Given the description of an element on the screen output the (x, y) to click on. 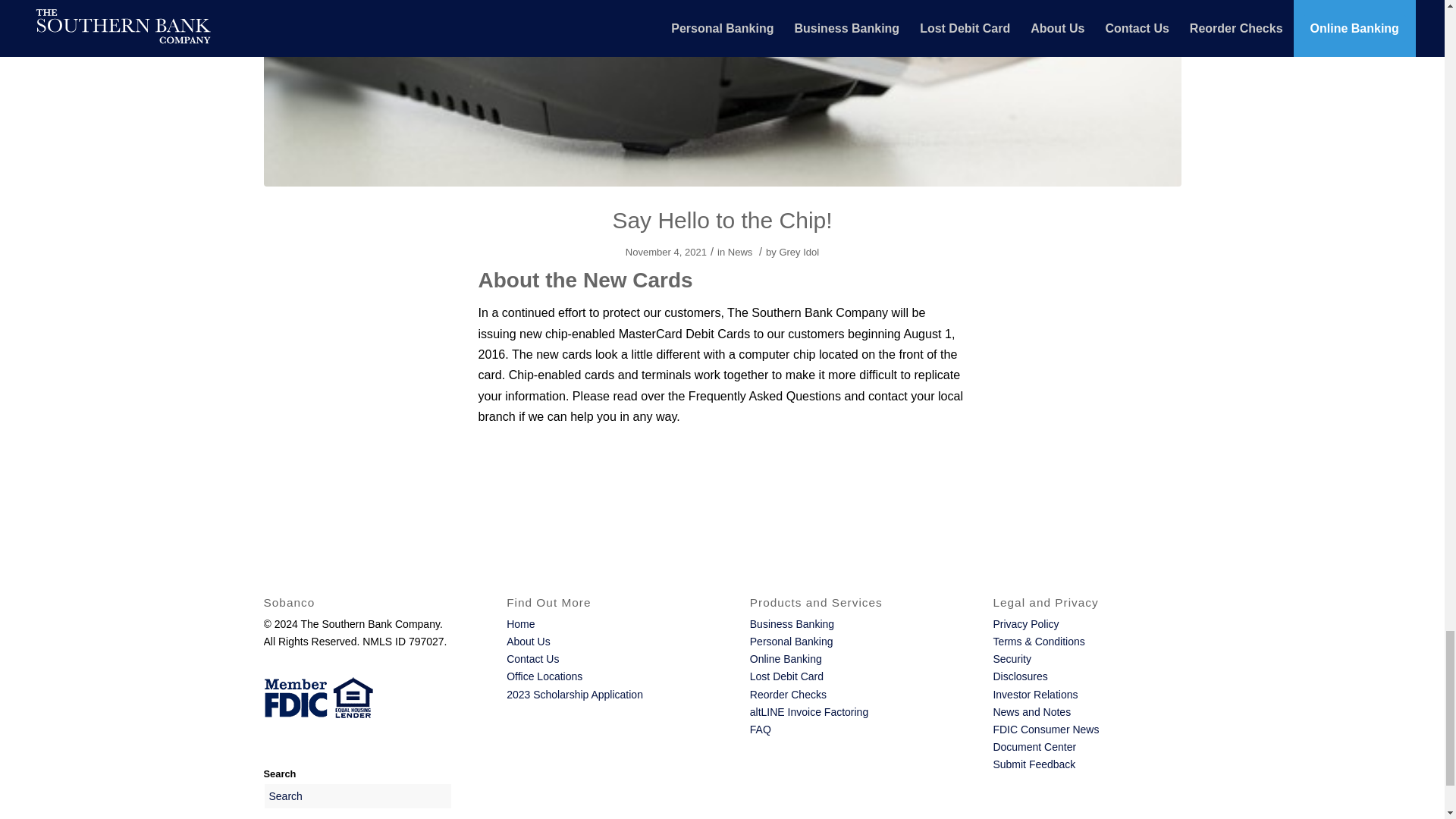
Contact Us (532, 658)
Home (520, 623)
News (740, 251)
Grey Idol (798, 251)
Personal Banking (790, 641)
2023 Scholarship Application (574, 694)
Business Banking (791, 623)
Say Hello to the Chip! (721, 220)
Office Locations (544, 676)
About Us (528, 641)
